Given the description of an element on the screen output the (x, y) to click on. 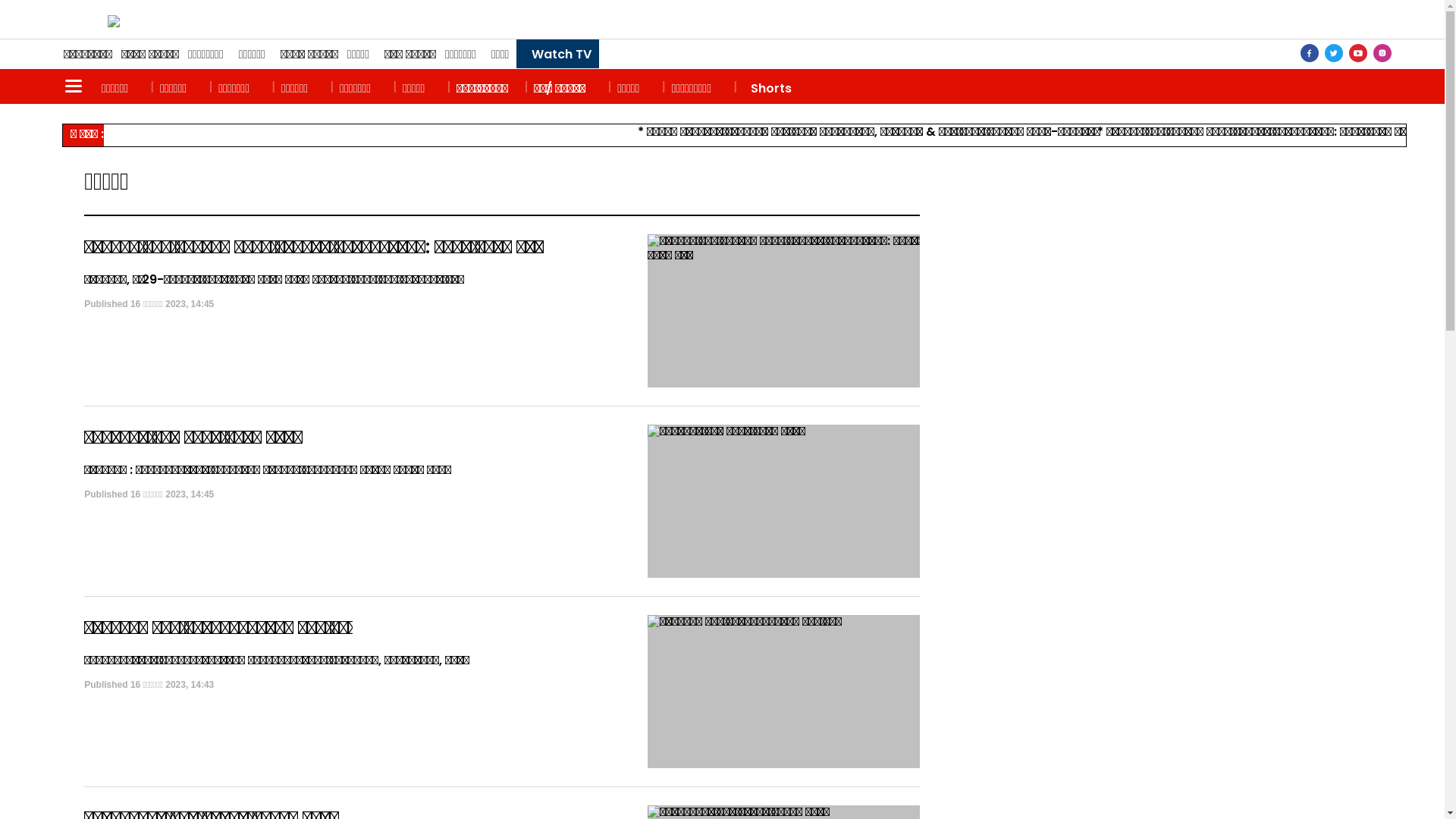
Shorts Element type: text (767, 86)
Watch TV Element type: text (557, 53)
